Given the description of an element on the screen output the (x, y) to click on. 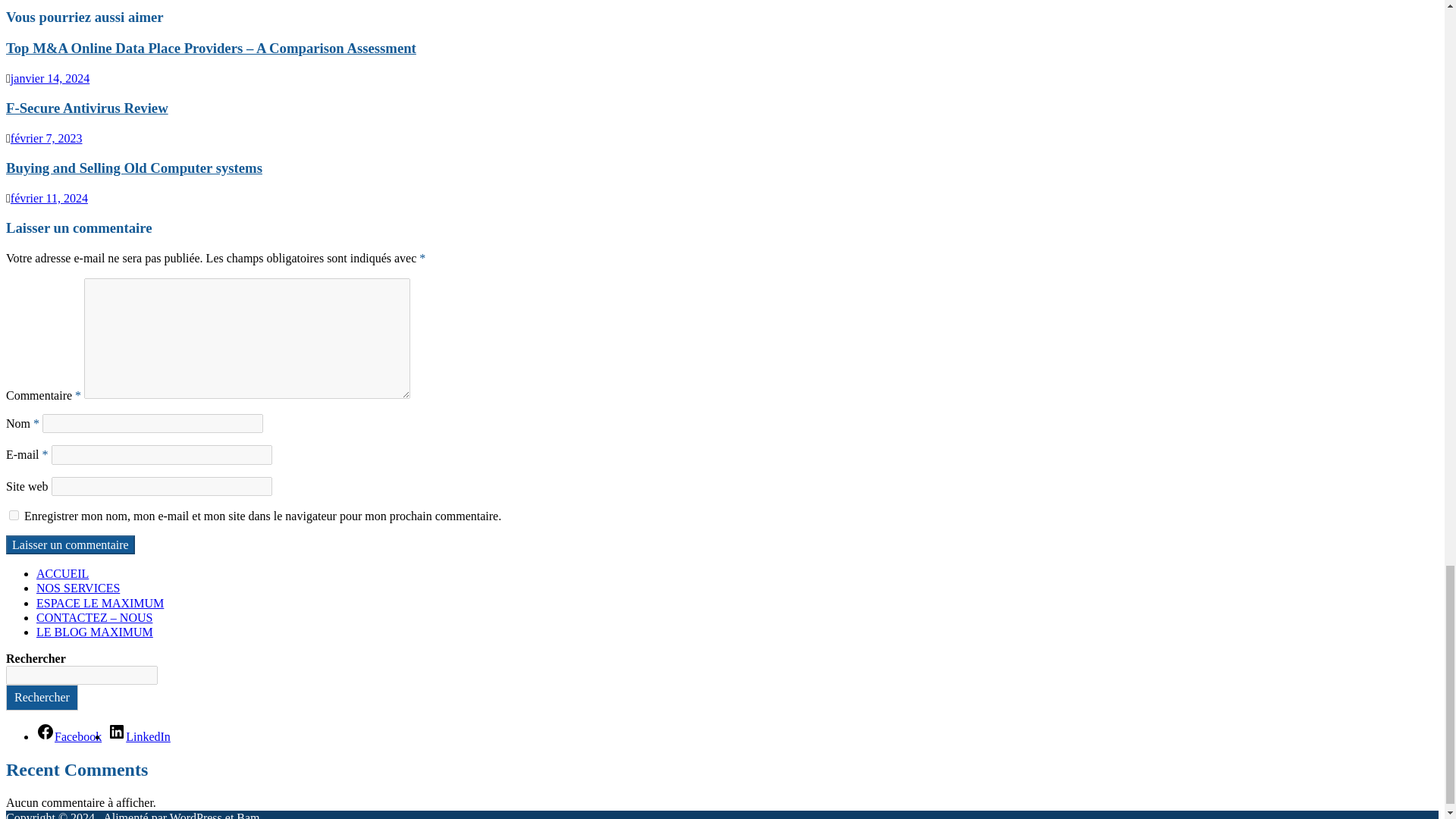
ESPACE LE MAXIMUM (99, 602)
LE BLOG MAXIMUM (94, 631)
F-Secure Antivirus Review (86, 107)
LinkedIn (138, 736)
Rechercher (41, 697)
Buying and Selling Old Computer systems (133, 167)
NOS SERVICES (77, 587)
Laisser un commentaire (70, 544)
Facebook (68, 736)
janvier 14, 2024 (49, 78)
Laisser un commentaire (70, 544)
ACCUEIL (62, 573)
Buying and Selling Old Computer systems (133, 167)
F-Secure Antivirus Review (86, 107)
yes (13, 515)
